Given the description of an element on the screen output the (x, y) to click on. 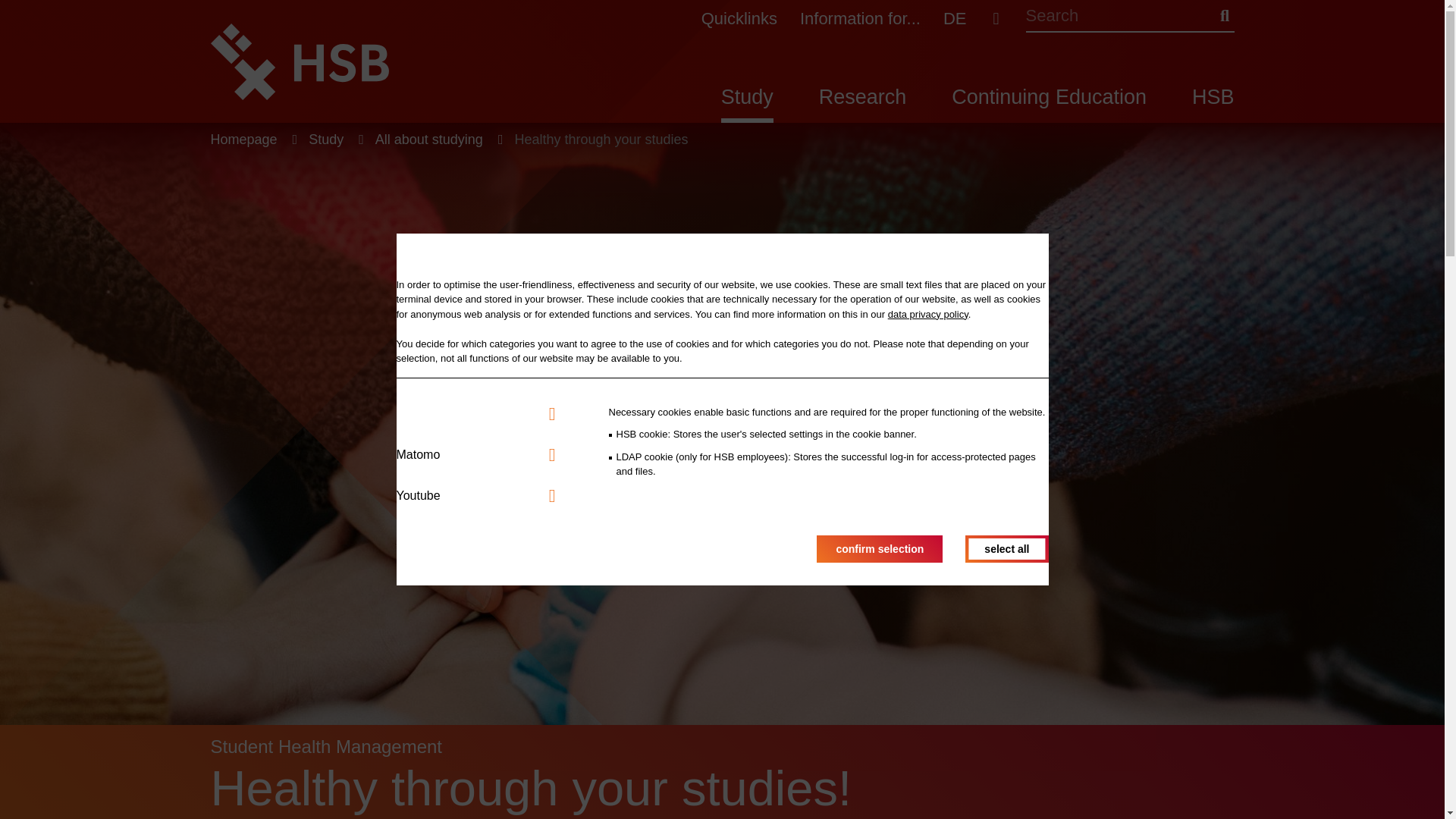
Study (746, 103)
HSB (1213, 103)
Information for... (859, 13)
Continuing Education (1049, 103)
Research (862, 103)
Search (1223, 15)
Quicklinks (739, 13)
